Given the description of an element on the screen output the (x, y) to click on. 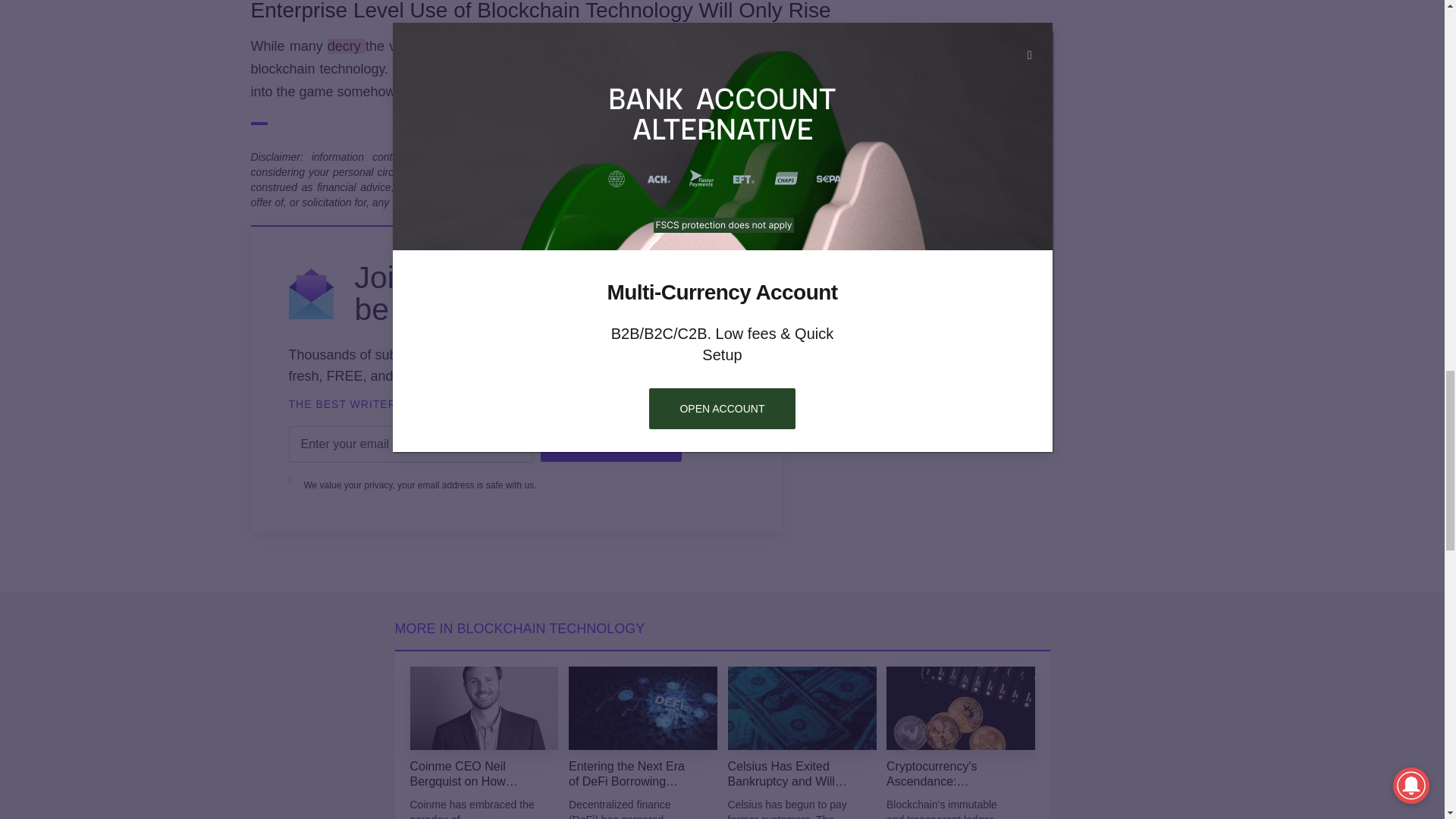
SUBSCRIBE (610, 443)
